Given the description of an element on the screen output the (x, y) to click on. 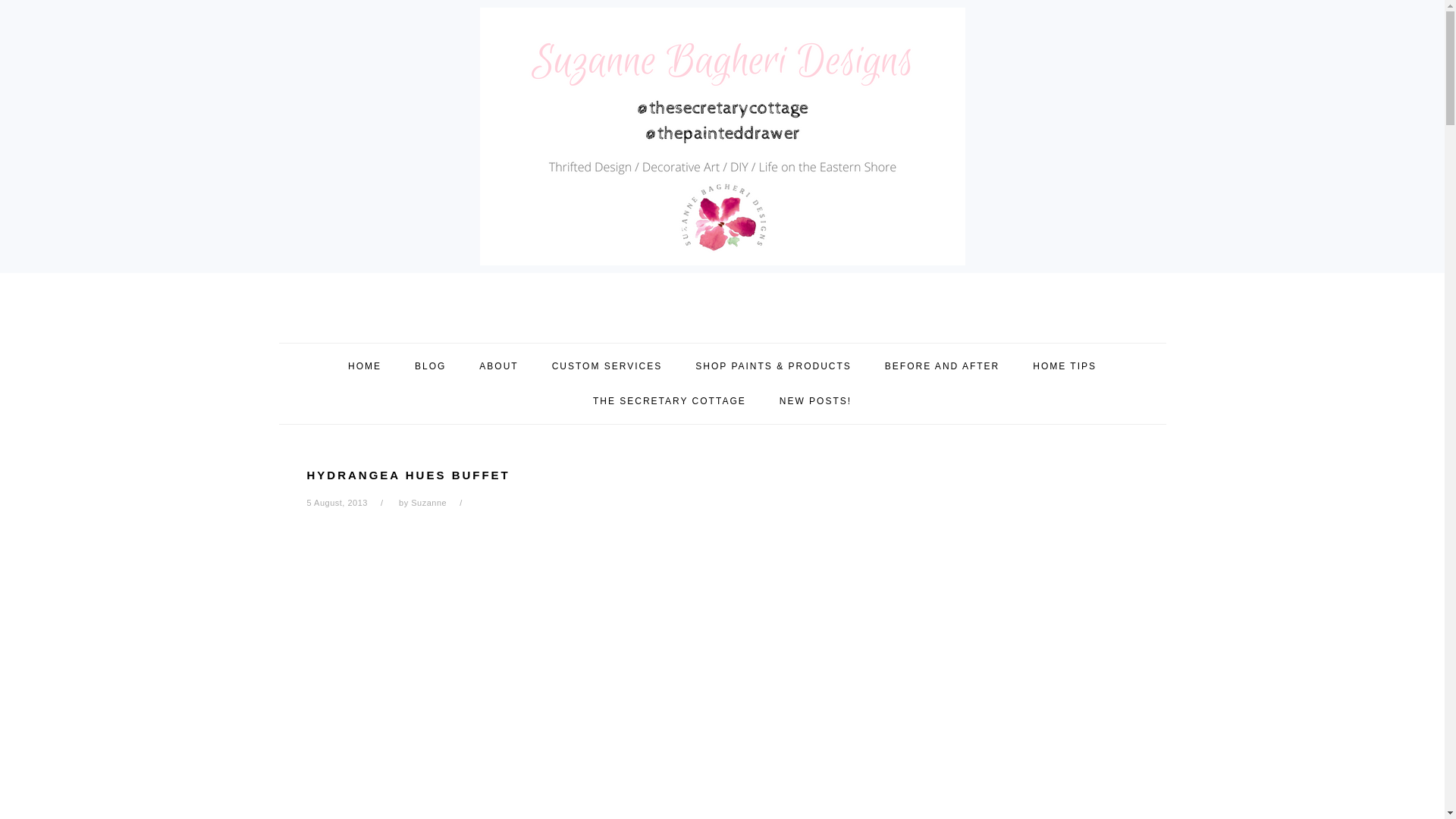
Advertisement (419, 633)
Advertisement (563, 779)
CUSTOM SERVICES (606, 366)
NEW POSTS! (814, 401)
THE SECRETARY COTTAGE (668, 401)
BEFORE AND AFTER (941, 366)
HOME TIPS (1064, 366)
HOME (364, 366)
Suzanne (428, 501)
